Given the description of an element on the screen output the (x, y) to click on. 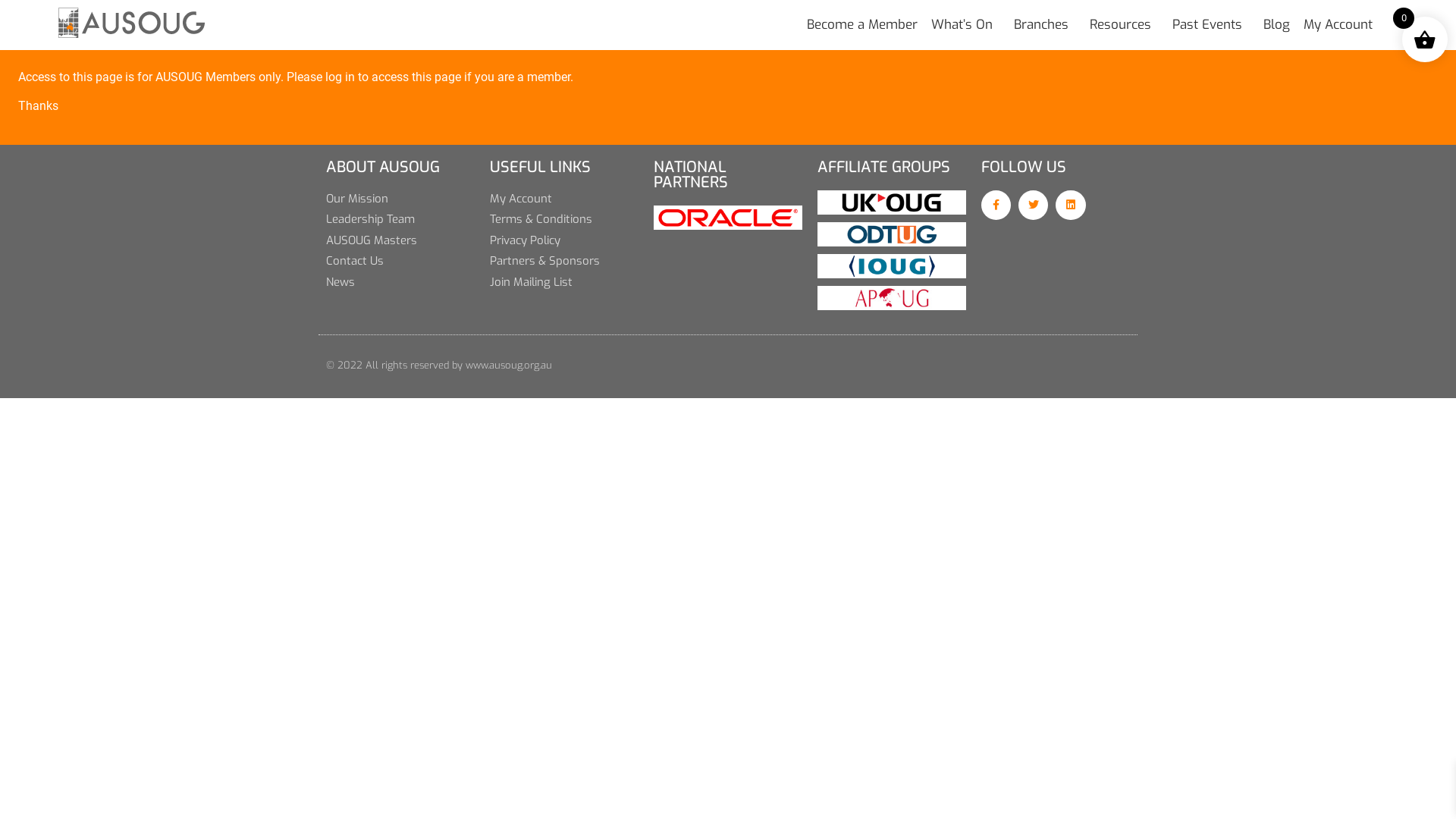
My Account Element type: text (563, 198)
Blog Element type: text (1276, 24)
Become a Member Element type: text (862, 24)
Contact Us Element type: text (400, 260)
Leadership Team Element type: text (400, 219)
News Element type: text (400, 282)
Branches Element type: text (1044, 24)
AUSOUG Masters Element type: text (400, 240)
Join Mailing List Element type: text (563, 282)
Past Events Element type: text (1210, 24)
Our Mission Element type: text (400, 198)
Privacy Policy Element type: text (563, 240)
My Account Element type: text (1337, 24)
Terms & Conditions Element type: text (563, 219)
Partners & Sponsors Element type: text (563, 260)
Resources Element type: text (1123, 24)
